Given the description of an element on the screen output the (x, y) to click on. 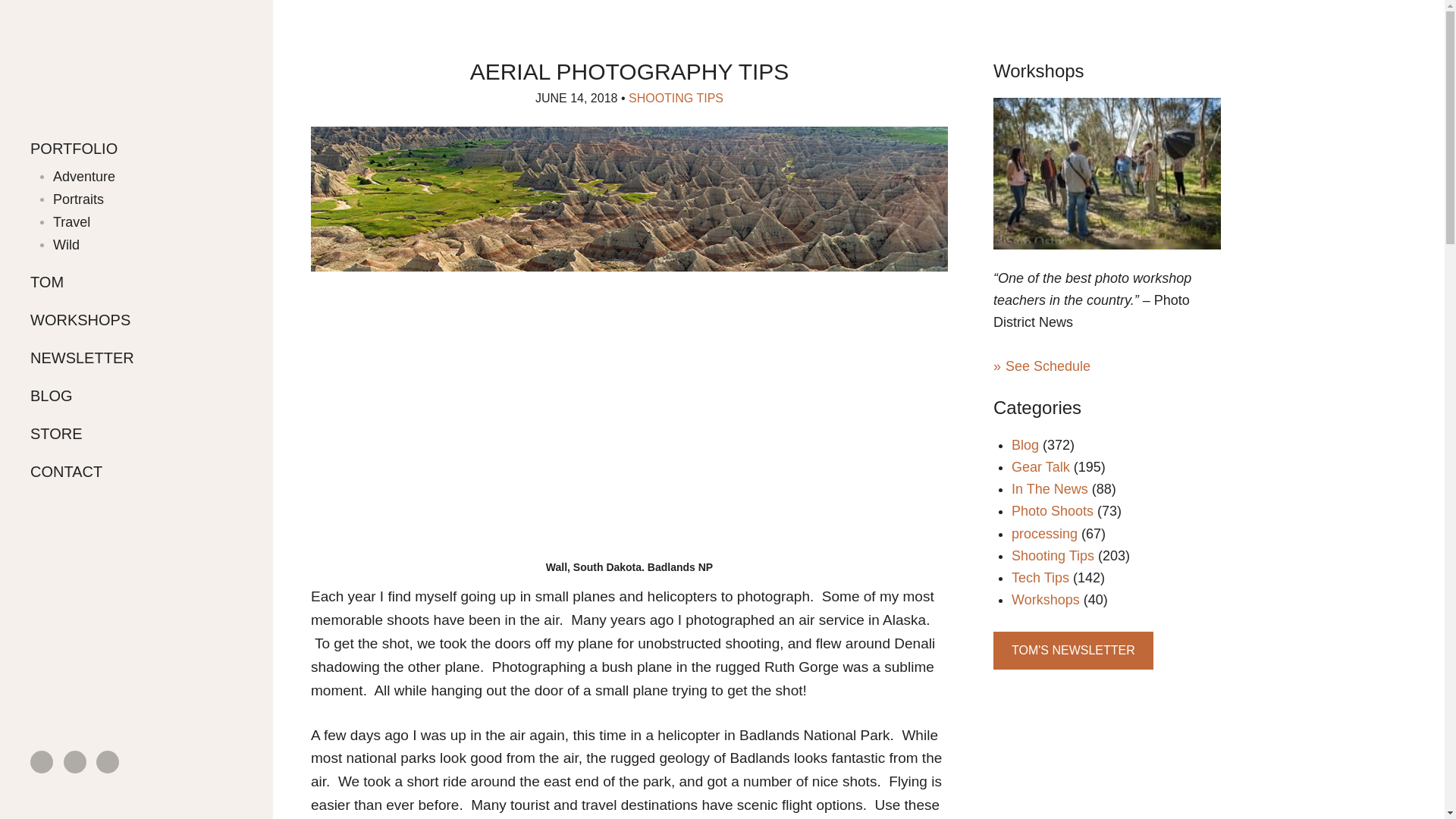
TWITTER (74, 762)
Portraits (132, 199)
Blog (1025, 444)
Wild (132, 244)
FACEBOOK (41, 762)
SHOOTING TIPS (675, 97)
processing (1044, 533)
CONTACT (136, 471)
STORE (136, 433)
